Given the description of an element on the screen output the (x, y) to click on. 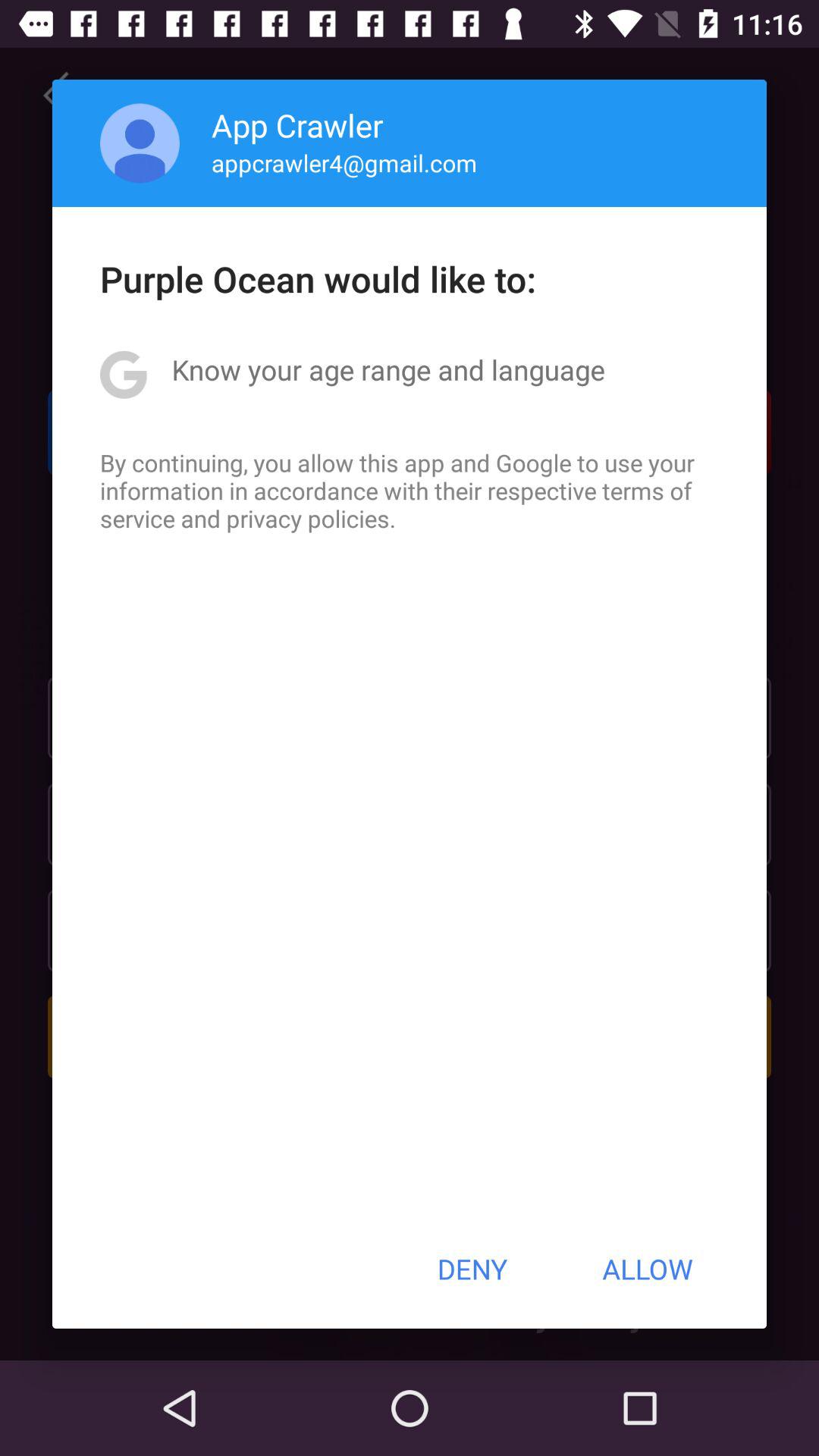
press the app below the purple ocean would (388, 369)
